Given the description of an element on the screen output the (x, y) to click on. 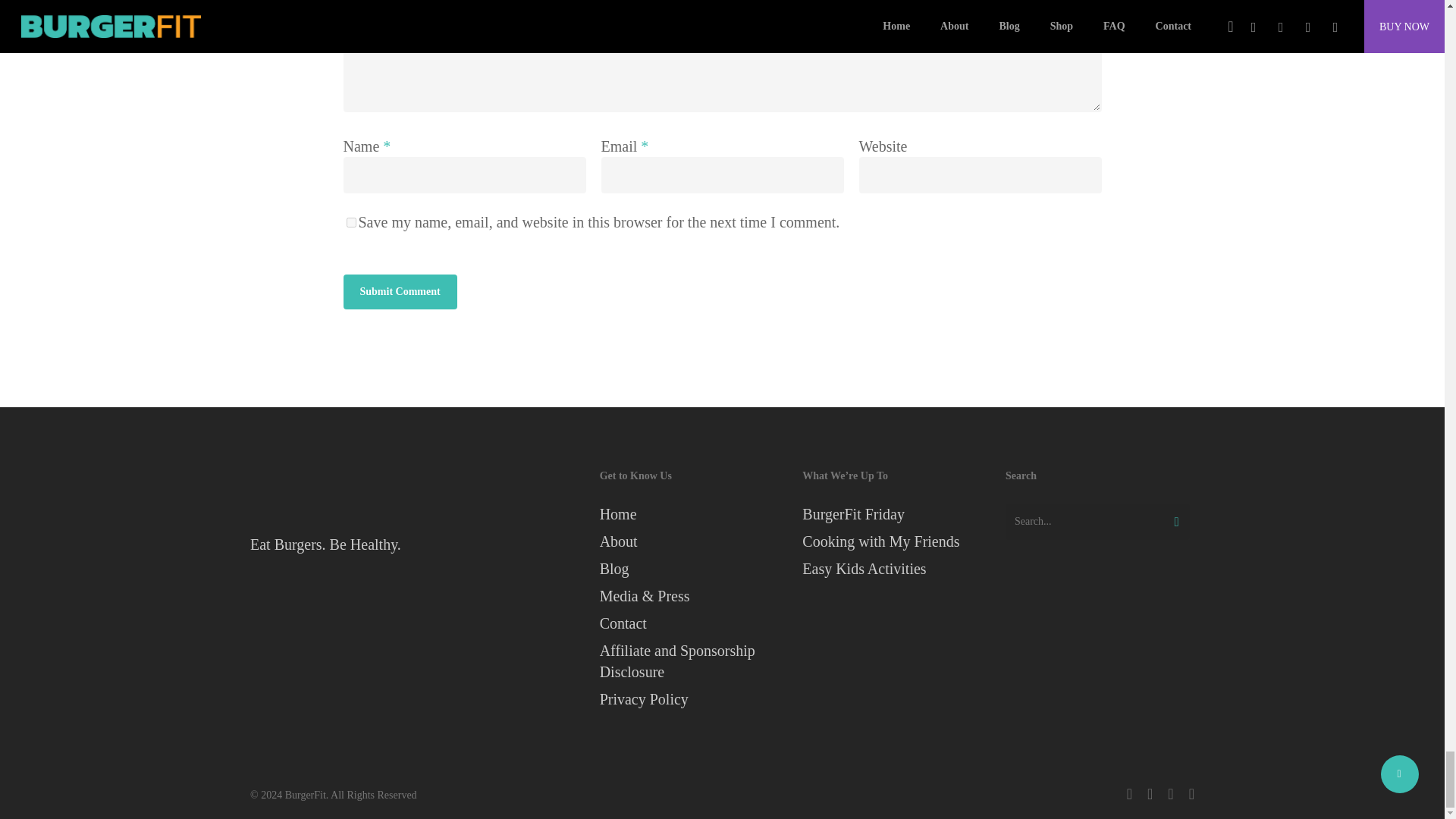
Submit Comment (399, 291)
Search for: (1097, 521)
yes (350, 222)
